Given the description of an element on the screen output the (x, y) to click on. 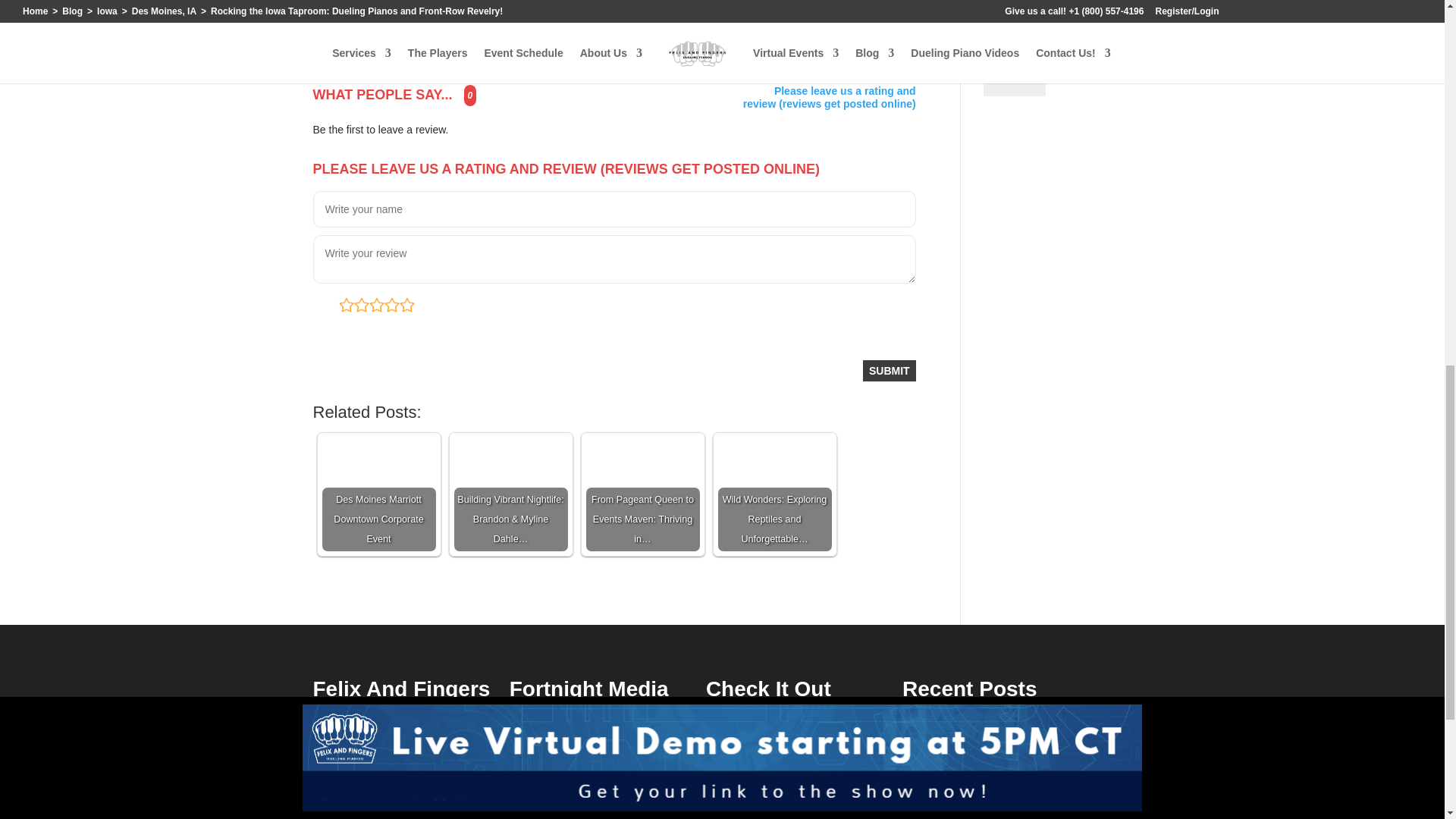
Submit (1014, 77)
Submit (889, 370)
Des Moines Marriott Downtown Corporate Event (378, 494)
